Given the description of an element on the screen output the (x, y) to click on. 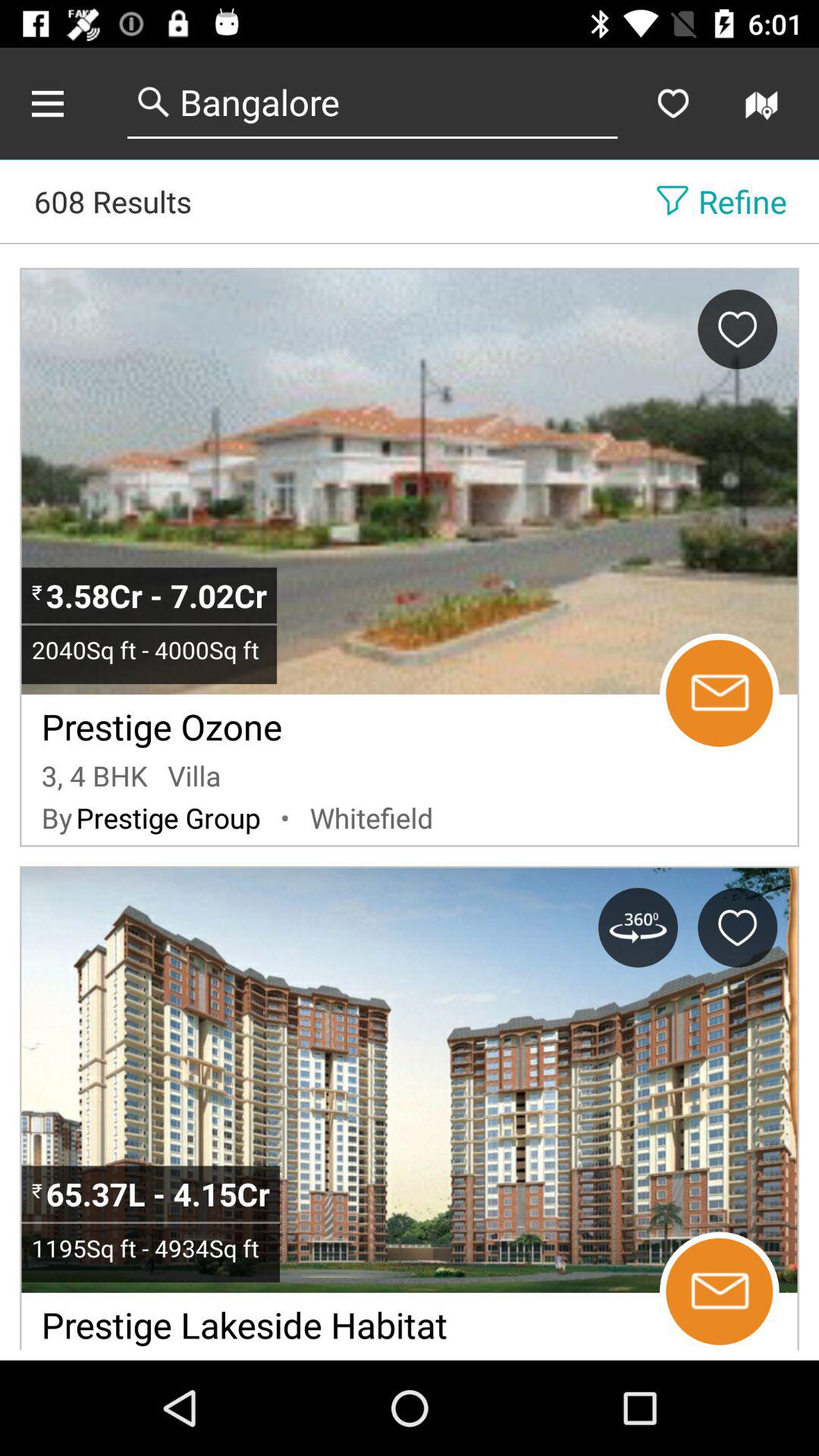
like or favorite (737, 927)
